Given the description of an element on the screen output the (x, y) to click on. 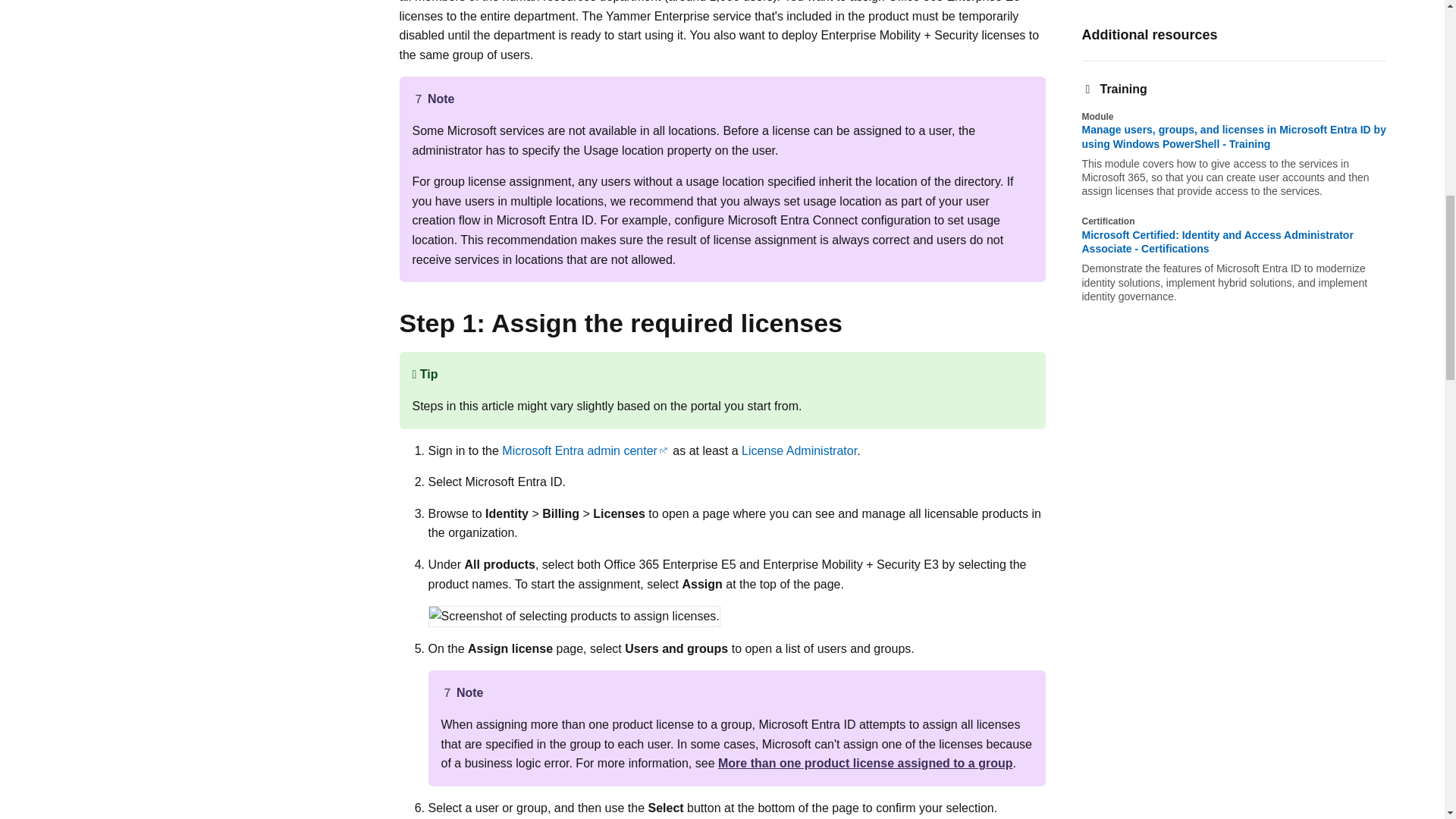
Microsoft Entra admin center (585, 450)
More than one product license assigned to a group (865, 762)
License Administrator (799, 450)
